Given the description of an element on the screen output the (x, y) to click on. 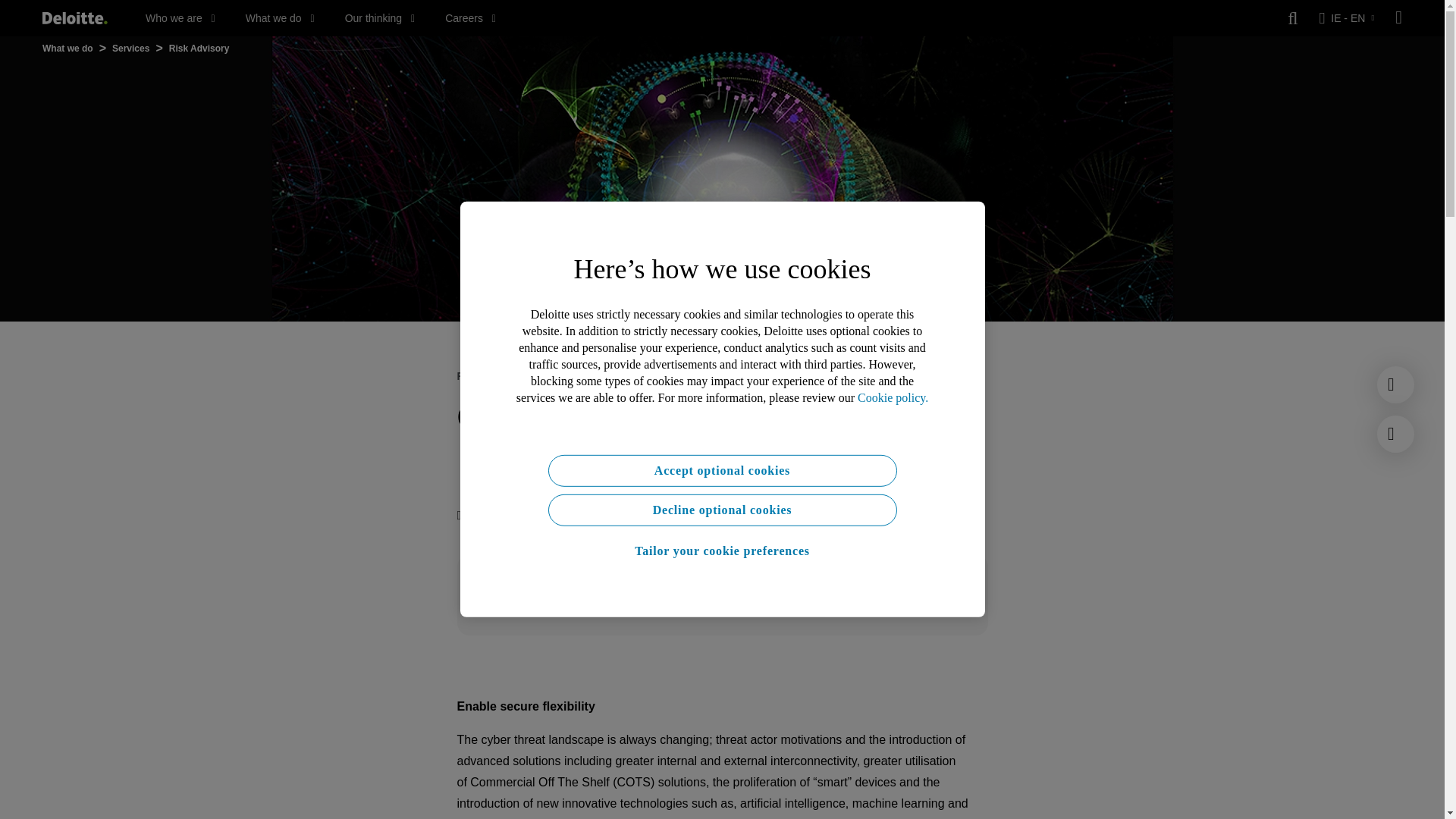
share via... (558, 515)
Deloitte (74, 18)
Careers (470, 18)
Print (474, 515)
share via... (588, 515)
share via... (619, 515)
share via... (649, 515)
What we do (280, 18)
Our thinking (379, 18)
Who we are (180, 18)
share via... (528, 515)
